Given the description of an element on the screen output the (x, y) to click on. 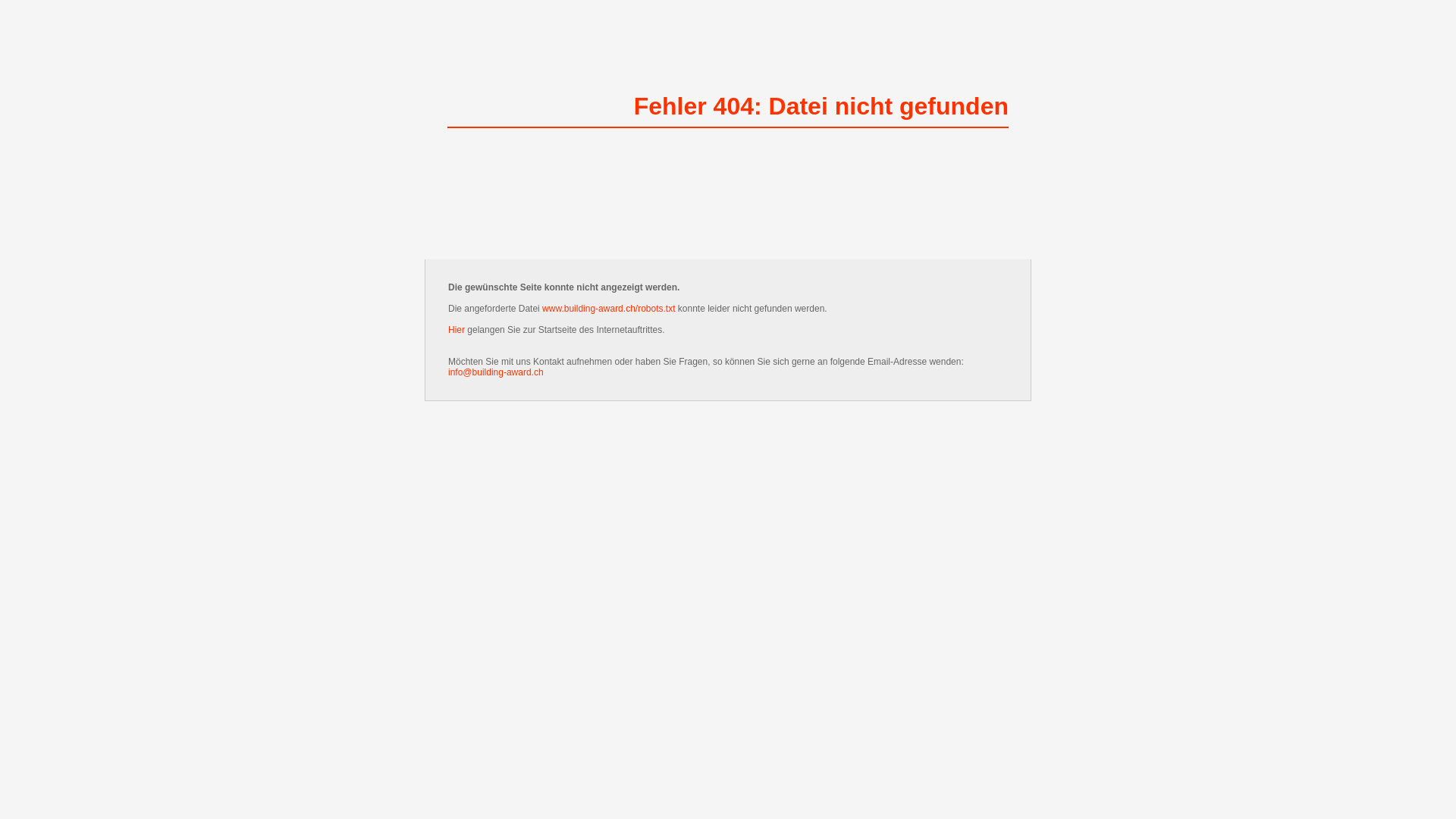
Hier Element type: text (456, 329)
www.building-award.ch/robots.txt Element type: text (608, 308)
info@building-award.ch Element type: text (495, 372)
